Given the description of an element on the screen output the (x, y) to click on. 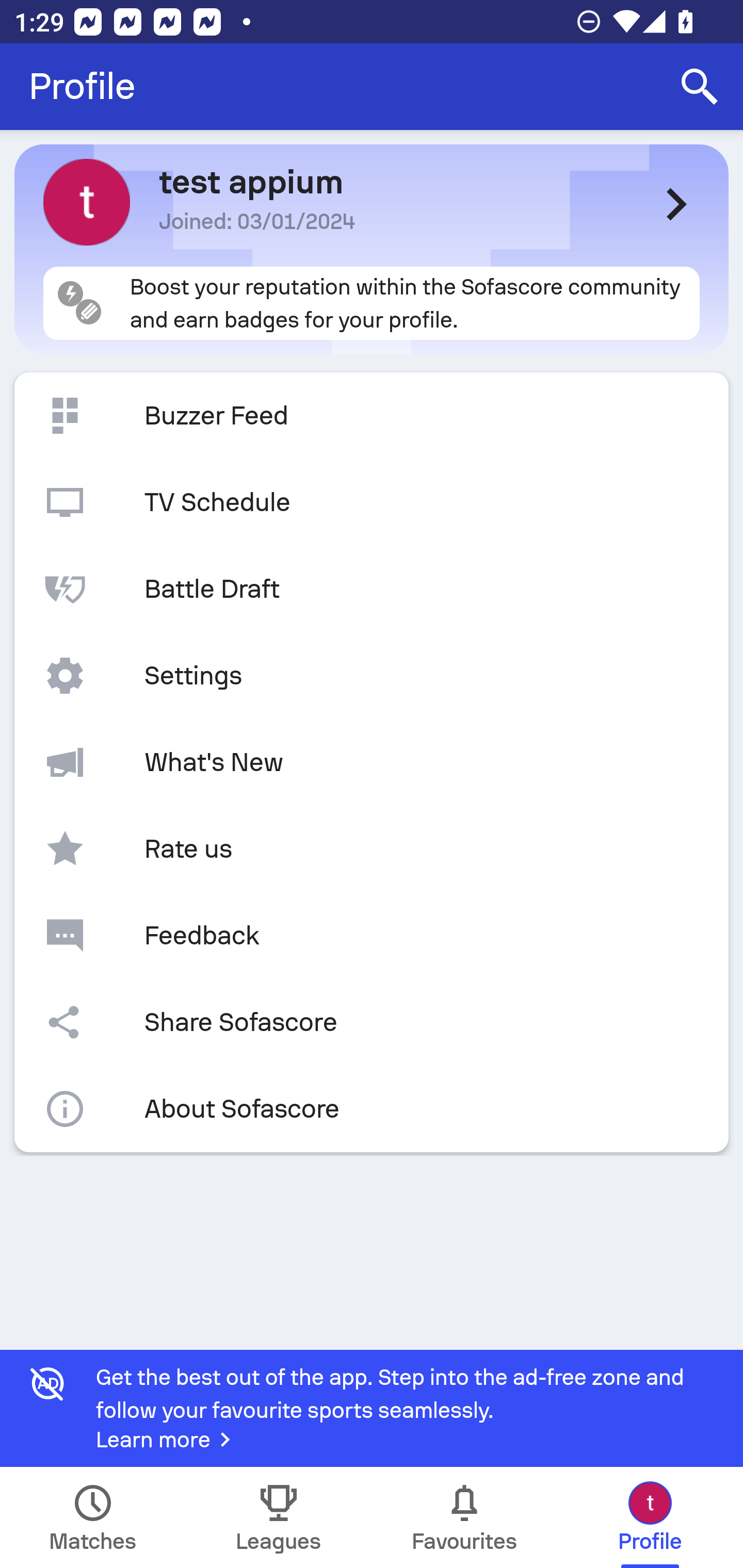
Profile (81, 86)
Search (699, 86)
Buzzer Feed (371, 416)
TV Schedule (371, 502)
Battle Draft (371, 588)
Settings (371, 675)
What's New (371, 762)
Rate us (371, 848)
Feedback (371, 935)
Share Sofascore (371, 1022)
About Sofascore (371, 1109)
Matches (92, 1517)
Leagues (278, 1517)
Favourites (464, 1517)
